Given the description of an element on the screen output the (x, y) to click on. 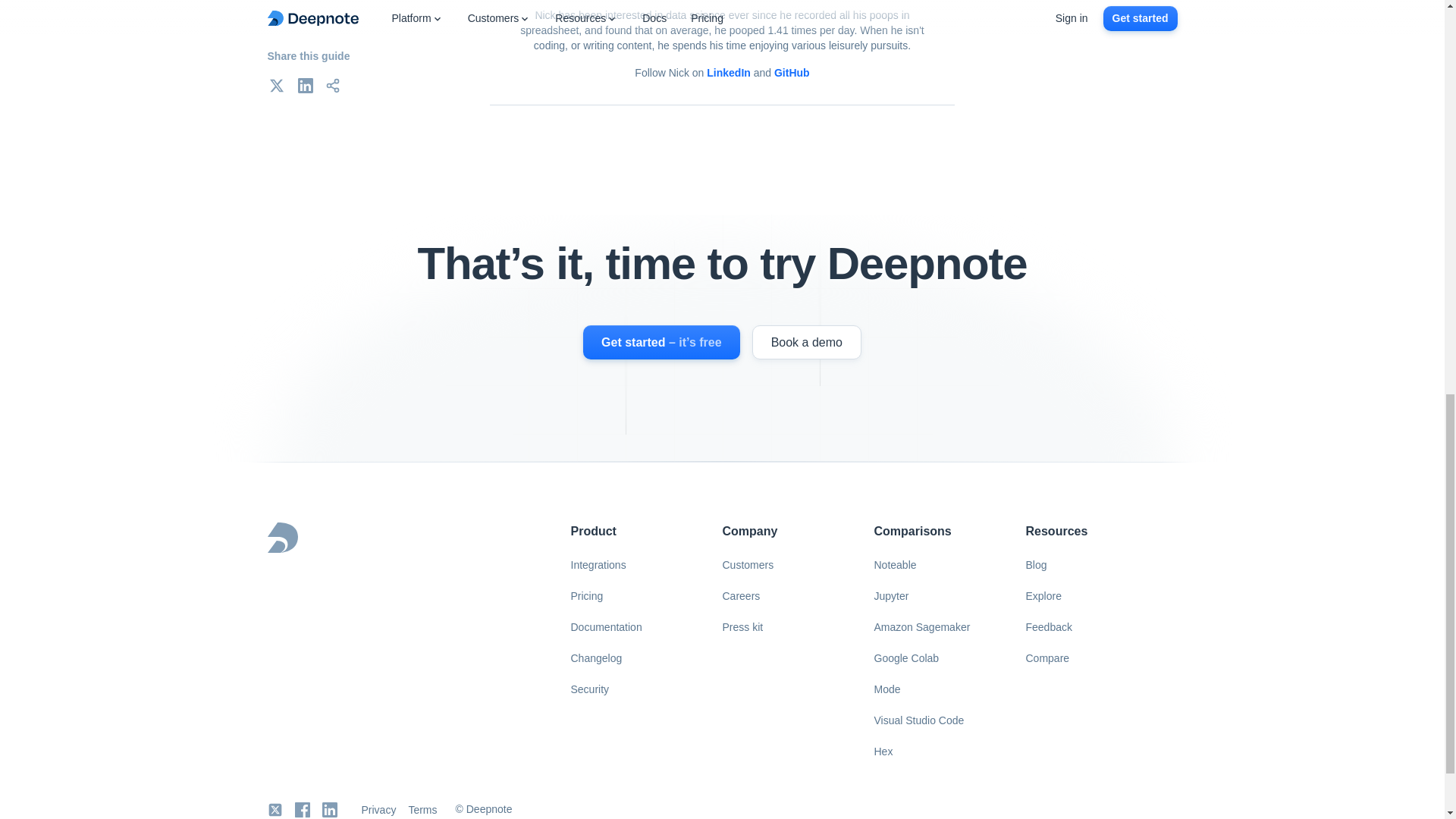
Integrations (597, 565)
Customers (748, 565)
Hex (882, 751)
Noteable (894, 565)
Mode (886, 689)
Noteable (894, 565)
Blog (1035, 565)
LinkedIn (328, 809)
Careers (740, 595)
Pricing (585, 595)
Security (588, 689)
Feedback (1048, 627)
Visual Studio Code (918, 719)
Jupyter (890, 595)
Changelog (595, 657)
